Given the description of an element on the screen output the (x, y) to click on. 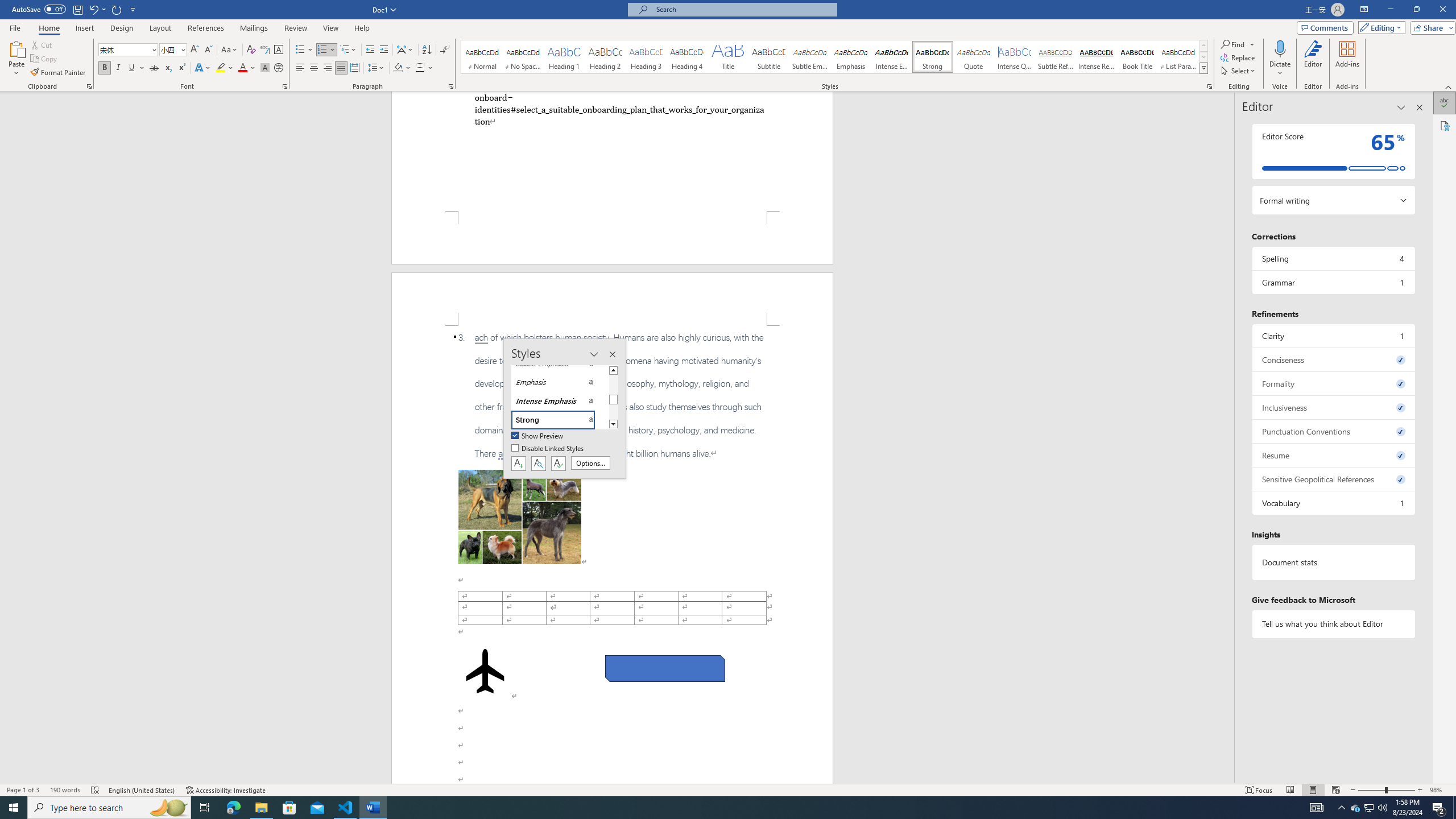
Emphasis (849, 56)
Conciseness, 0 issues. Press space or enter to review items. (1333, 359)
Page Number Page 1 of 3 (22, 790)
2. (619, 108)
